Given the description of an element on the screen output the (x, y) to click on. 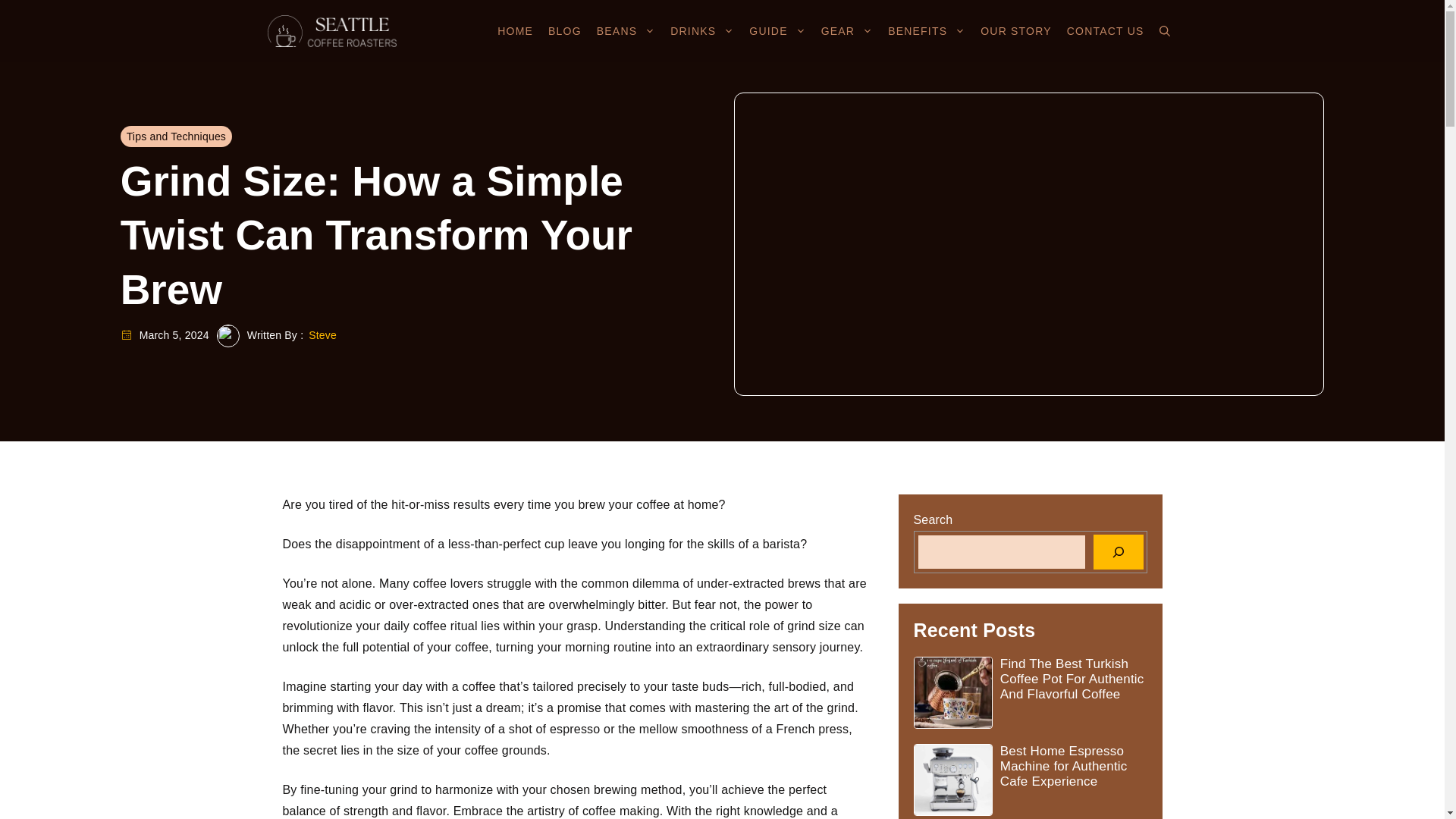
GEAR (846, 30)
HOME (514, 30)
GUIDE (776, 30)
BENEFITS (926, 30)
OUR STORY (1015, 30)
BEANS (625, 30)
BLOG (564, 30)
Tips and Techniques (175, 136)
Steve (322, 334)
CONTACT US (1105, 30)
